Given the description of an element on the screen output the (x, y) to click on. 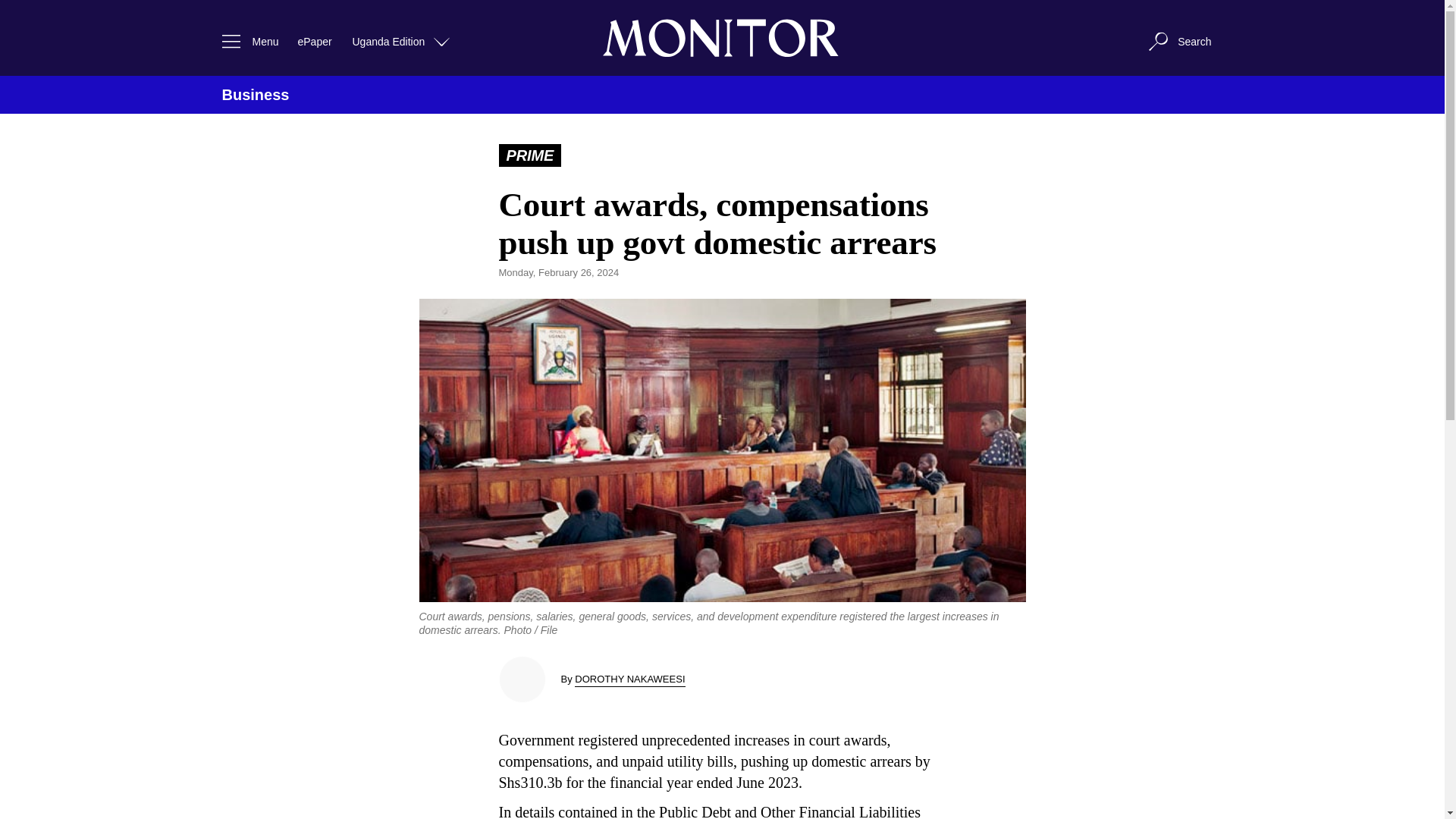
Search (1178, 41)
Menu (246, 41)
Uganda Edition (401, 41)
Business (254, 94)
ePaper (314, 41)
